Given the description of an element on the screen output the (x, y) to click on. 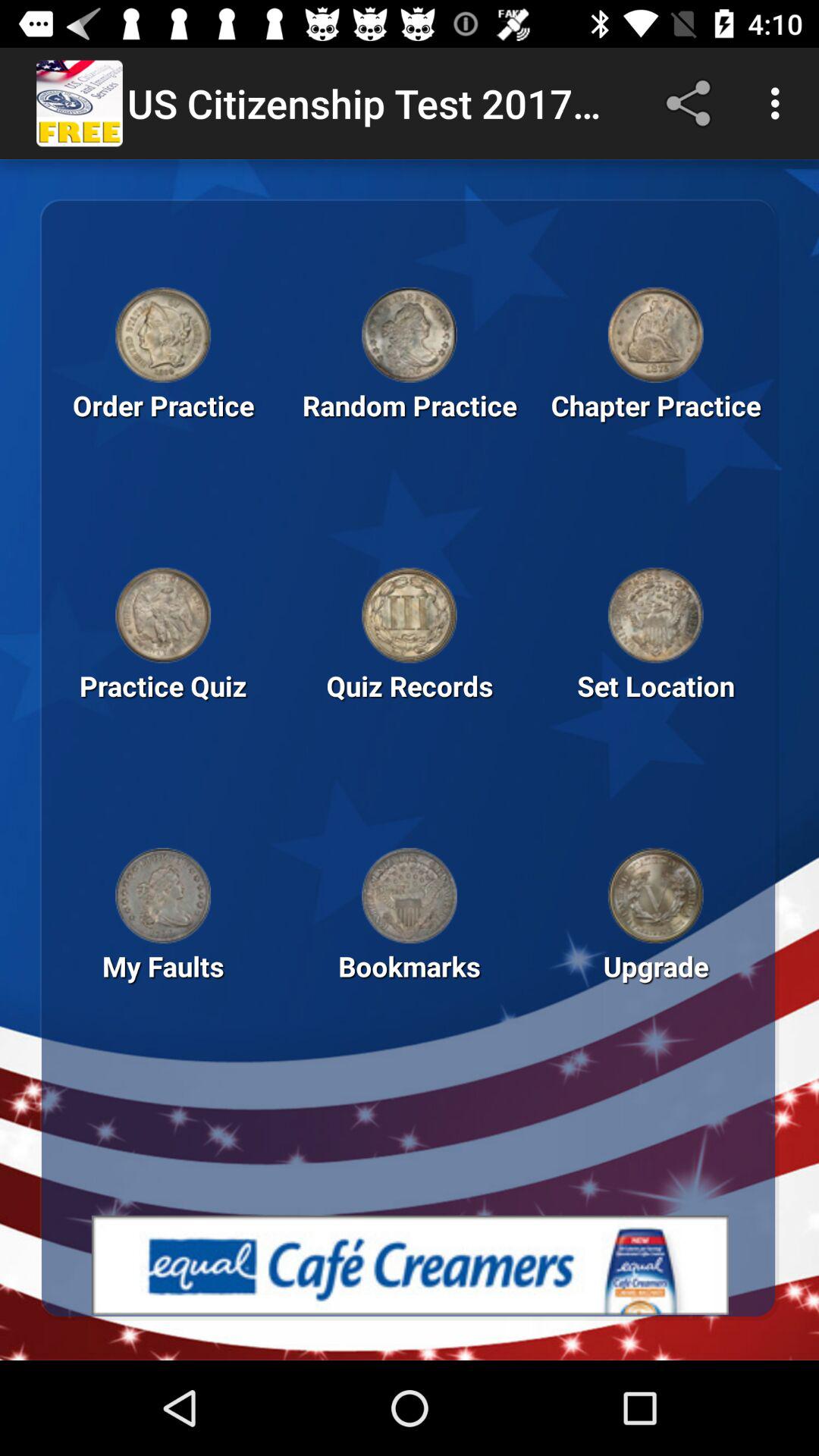
go to share (691, 103)
go to icon above set location (655, 615)
select option my faults on page (163, 991)
select the text beside the text bookmarks (655, 991)
click on the coin which is above the random practice text (409, 334)
select the text which is right to the text quiz records (655, 710)
click on the circular image which is above the quiz records option (409, 615)
select the text which is immediately below the second row second image (409, 710)
